Given the description of an element on the screen output the (x, y) to click on. 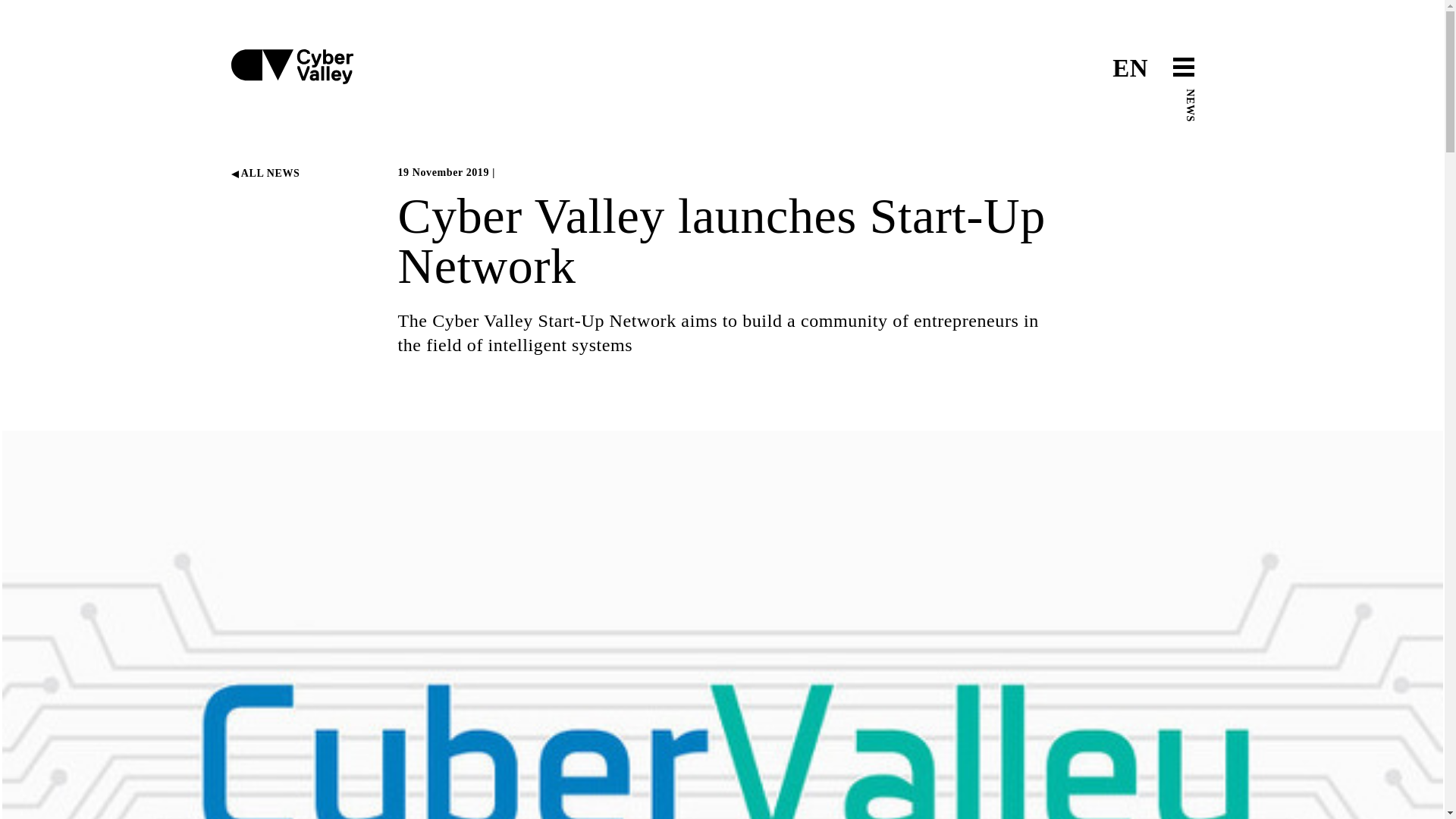
EN (1130, 67)
NEWS (1201, 93)
ALL NEWS (264, 173)
